Given the description of an element on the screen output the (x, y) to click on. 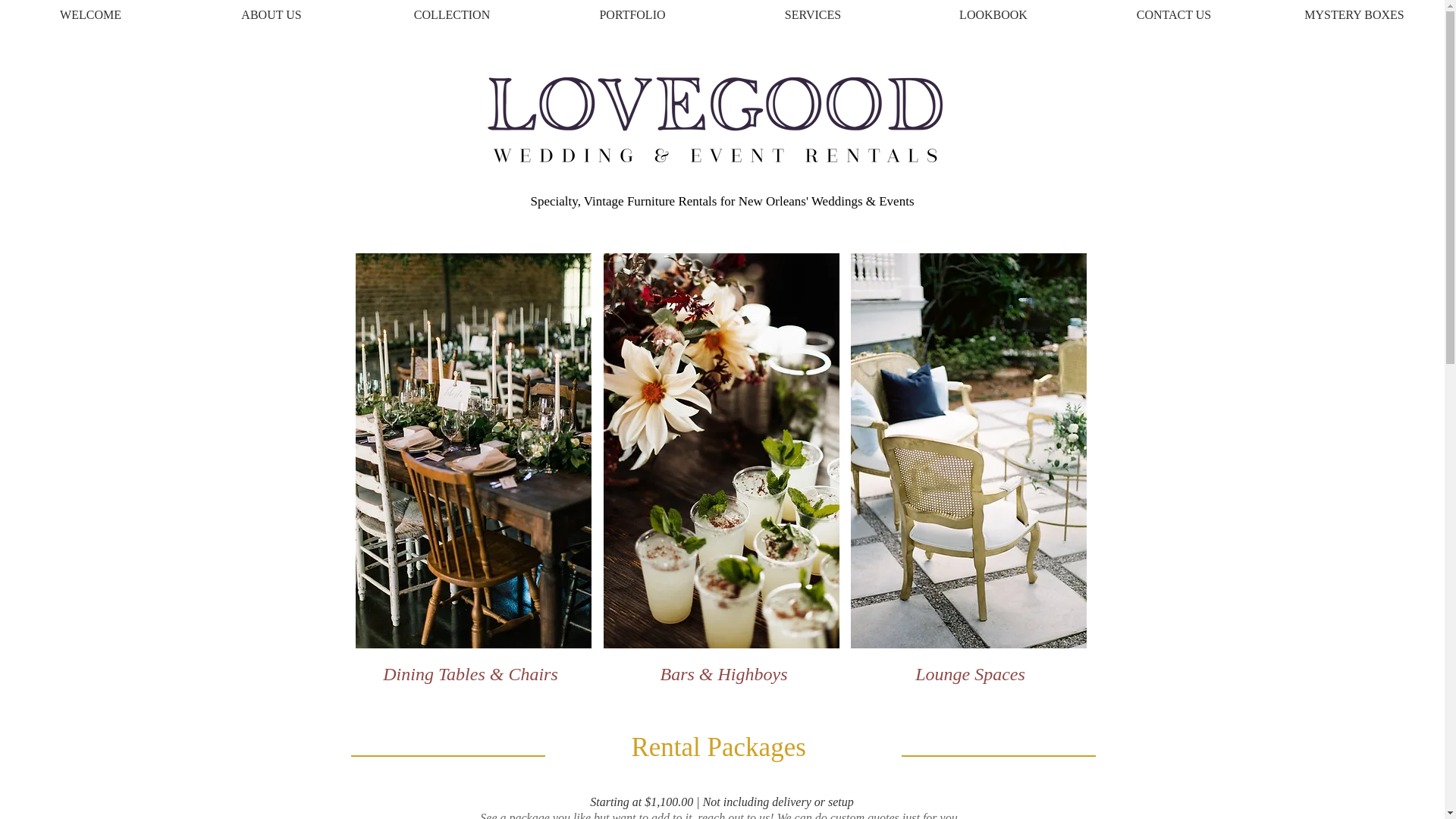
PORTFOLIO (631, 17)
CONTACT US (1173, 17)
WELCOME (90, 17)
LOOKBOOK (992, 17)
COLLECTION (451, 17)
ABOUT US (270, 17)
SERVICES (812, 17)
